Given the description of an element on the screen output the (x, y) to click on. 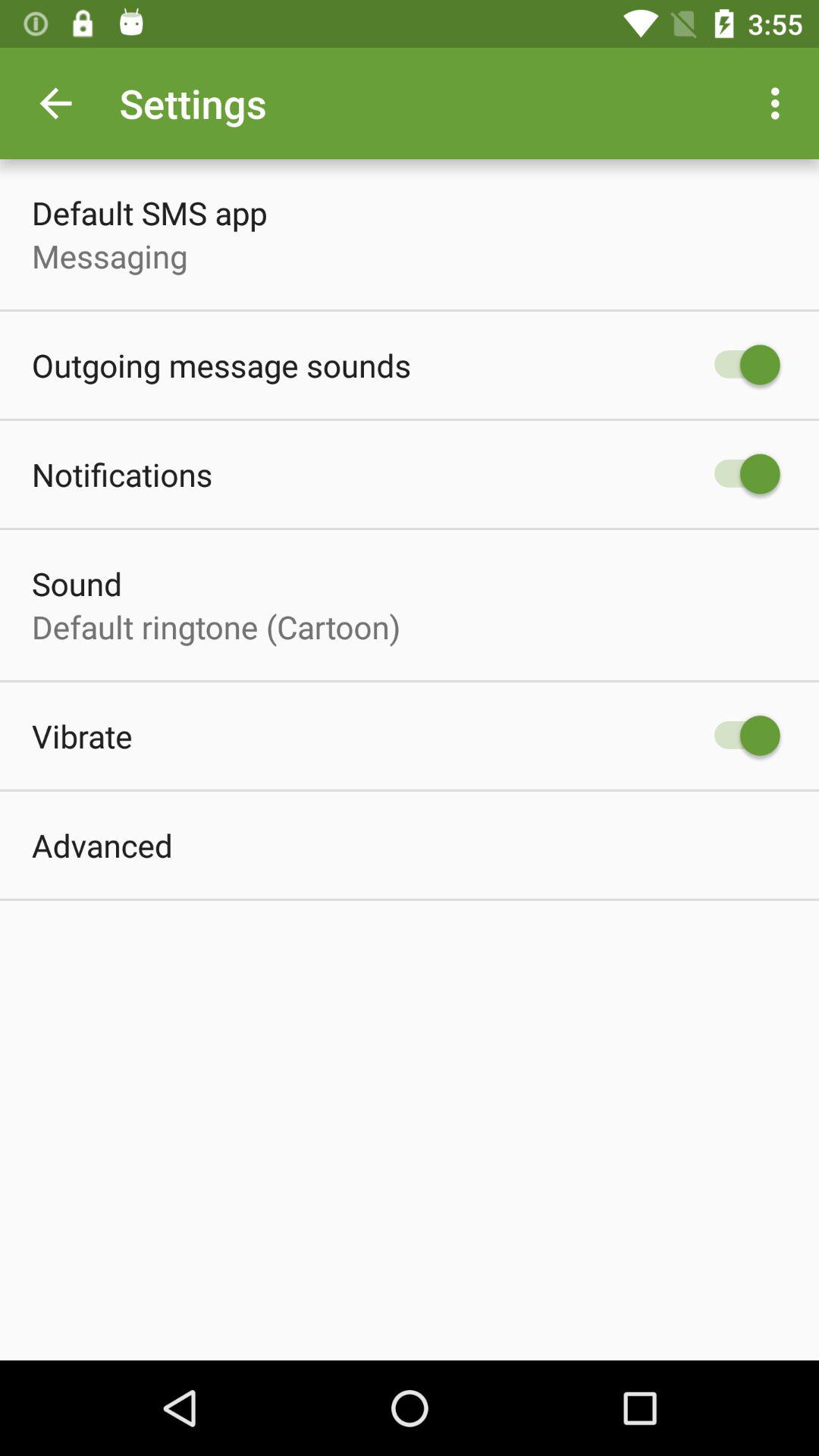
press item below the default sms app icon (109, 255)
